Given the description of an element on the screen output the (x, y) to click on. 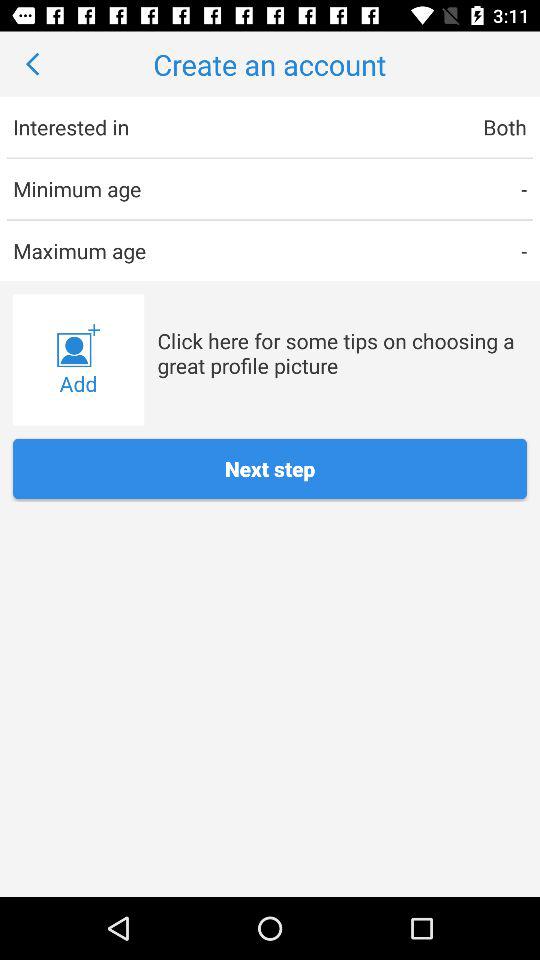
scroll until next step icon (269, 468)
